Given the description of an element on the screen output the (x, y) to click on. 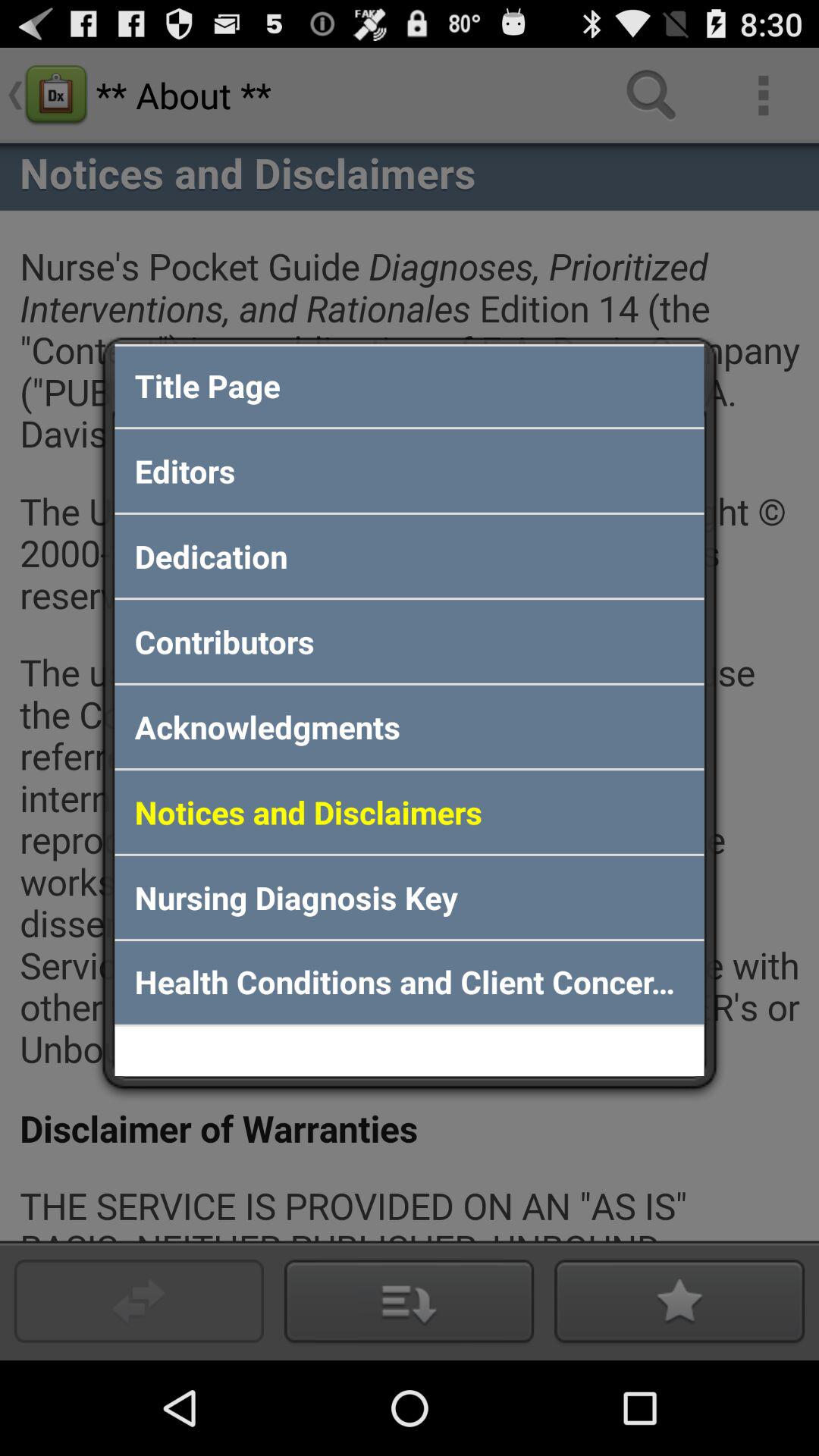
swipe until health conditions and app (409, 982)
